Given the description of an element on the screen output the (x, y) to click on. 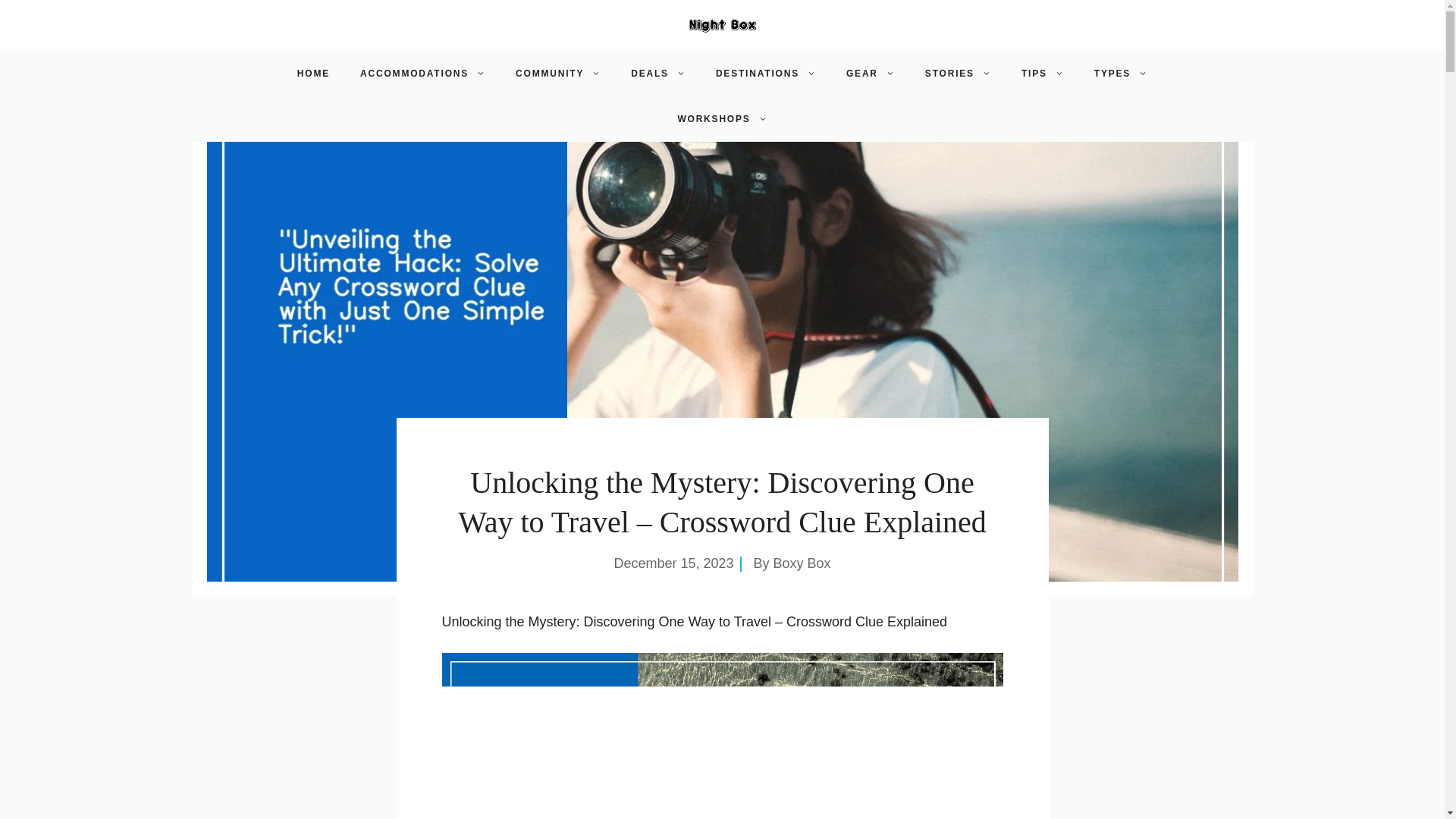
TYPES (1119, 73)
HOME (313, 73)
GEAR (870, 73)
WORKSHOPS (721, 118)
Boxy Box (802, 563)
STORIES (958, 73)
TIPS (1042, 73)
COMMUNITY (557, 73)
DESTINATIONS (765, 73)
